Given the description of an element on the screen output the (x, y) to click on. 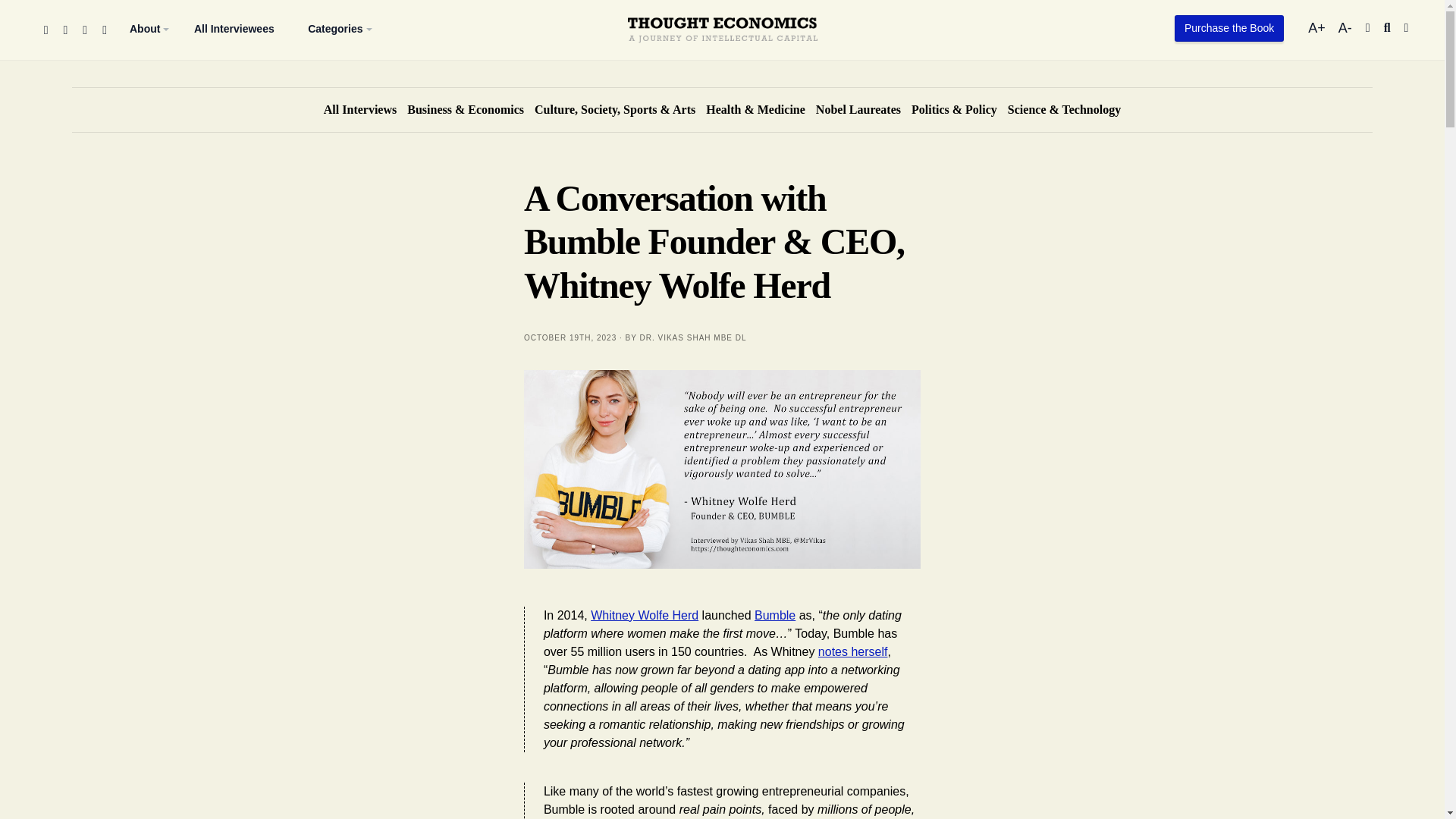
Purchase the Book (1229, 28)
OCTOBER 19TH, 2023 (569, 337)
All Interviews (359, 109)
Increase Font Size (1318, 28)
Bumble (774, 615)
Thought Economics (721, 2)
Decrease Font Size (1345, 28)
About (144, 28)
Whitney Wolfe Herd (644, 615)
notes herself (853, 651)
Categories (1345, 28)
BY DR. VIKAS SHAH MBE DL (334, 28)
Nobel Laureates (686, 337)
